Given the description of an element on the screen output the (x, y) to click on. 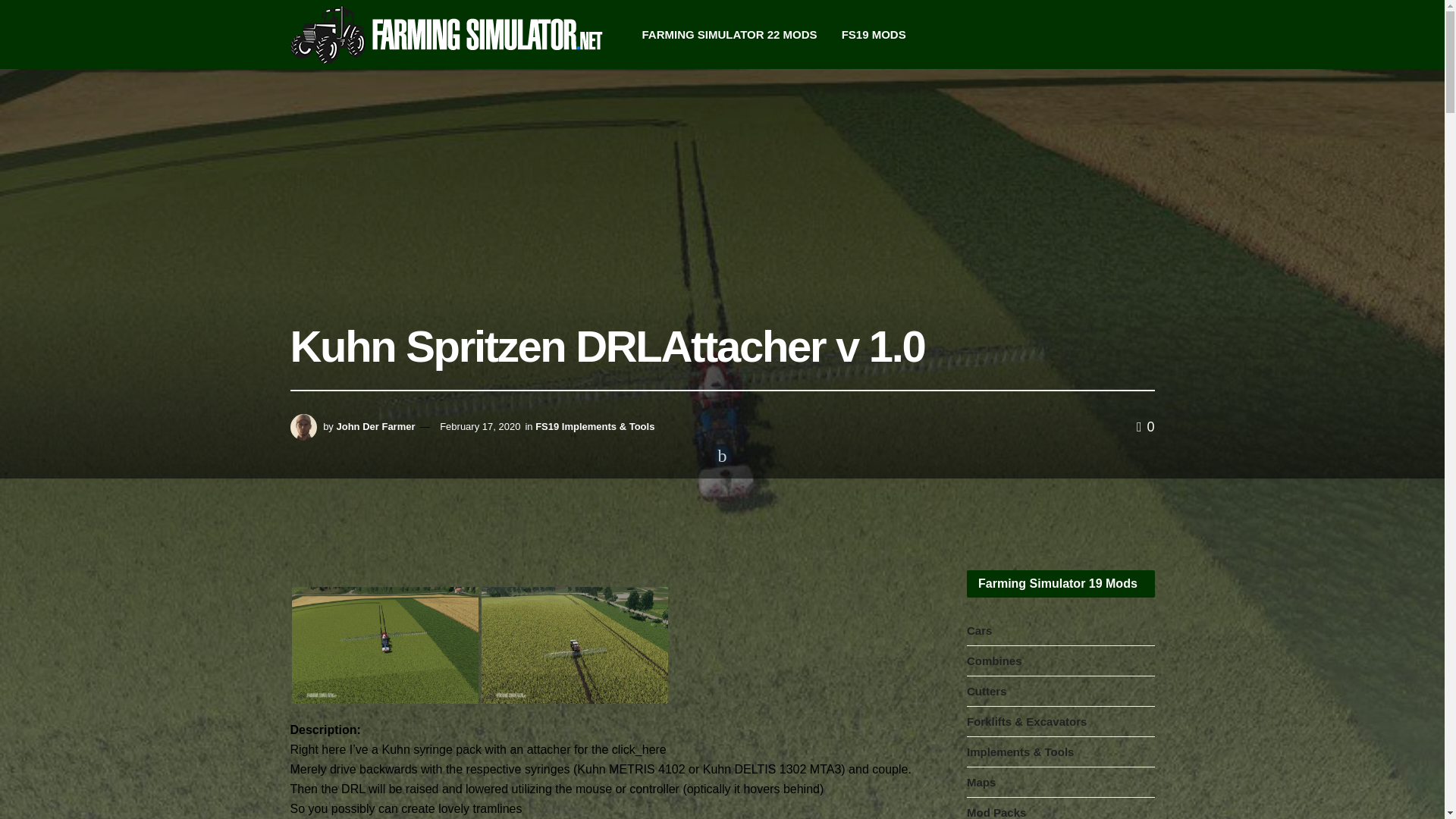
Home (301, 493)
Farming Simulator 19 Mods (383, 493)
FS19 MODS (873, 34)
FARMING SIMULATOR 22 MODS (728, 34)
February 17, 2020 (479, 426)
0 (1145, 426)
John Der Farmer (375, 426)
